Given the description of an element on the screen output the (x, y) to click on. 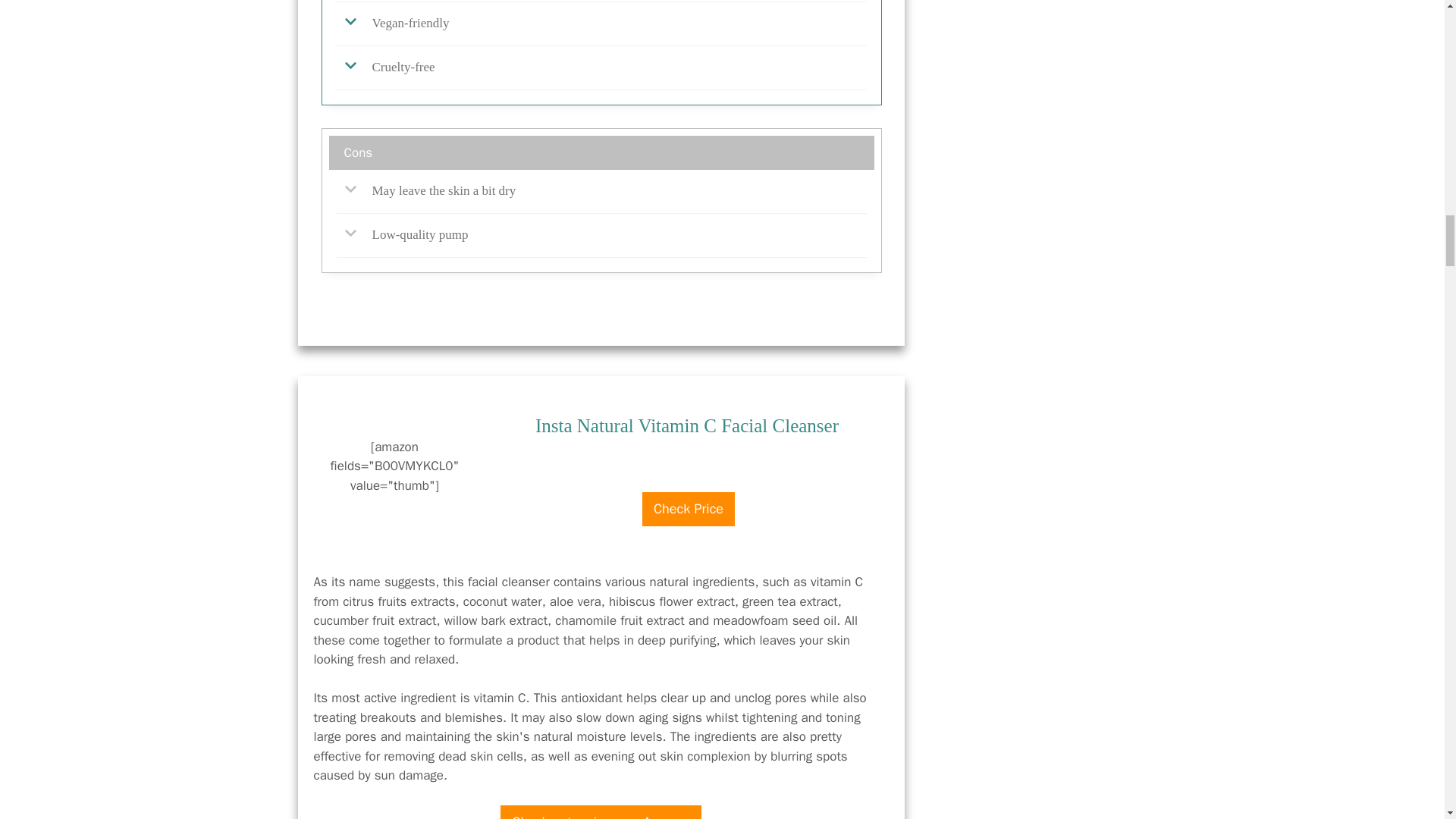
amazon (688, 483)
